Given the description of an element on the screen output the (x, y) to click on. 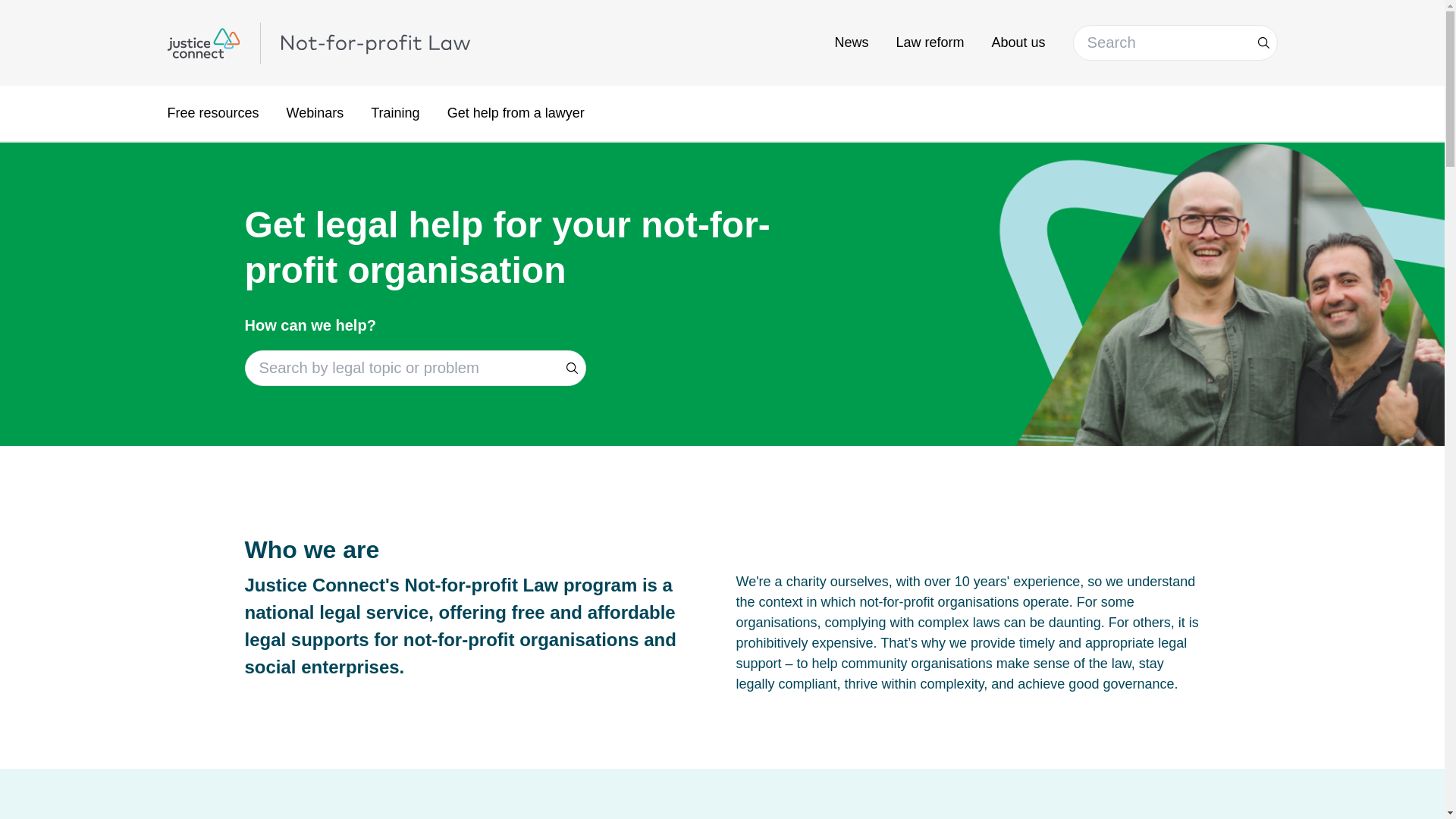
Law reform Element type: text (929, 42)
News Element type: text (851, 42)
Webinars Element type: text (315, 113)
Get help from a lawyer Element type: text (515, 113)
About us Element type: text (1017, 42)
Training Element type: text (394, 113)
Free resources Element type: text (212, 113)
